Given the description of an element on the screen output the (x, y) to click on. 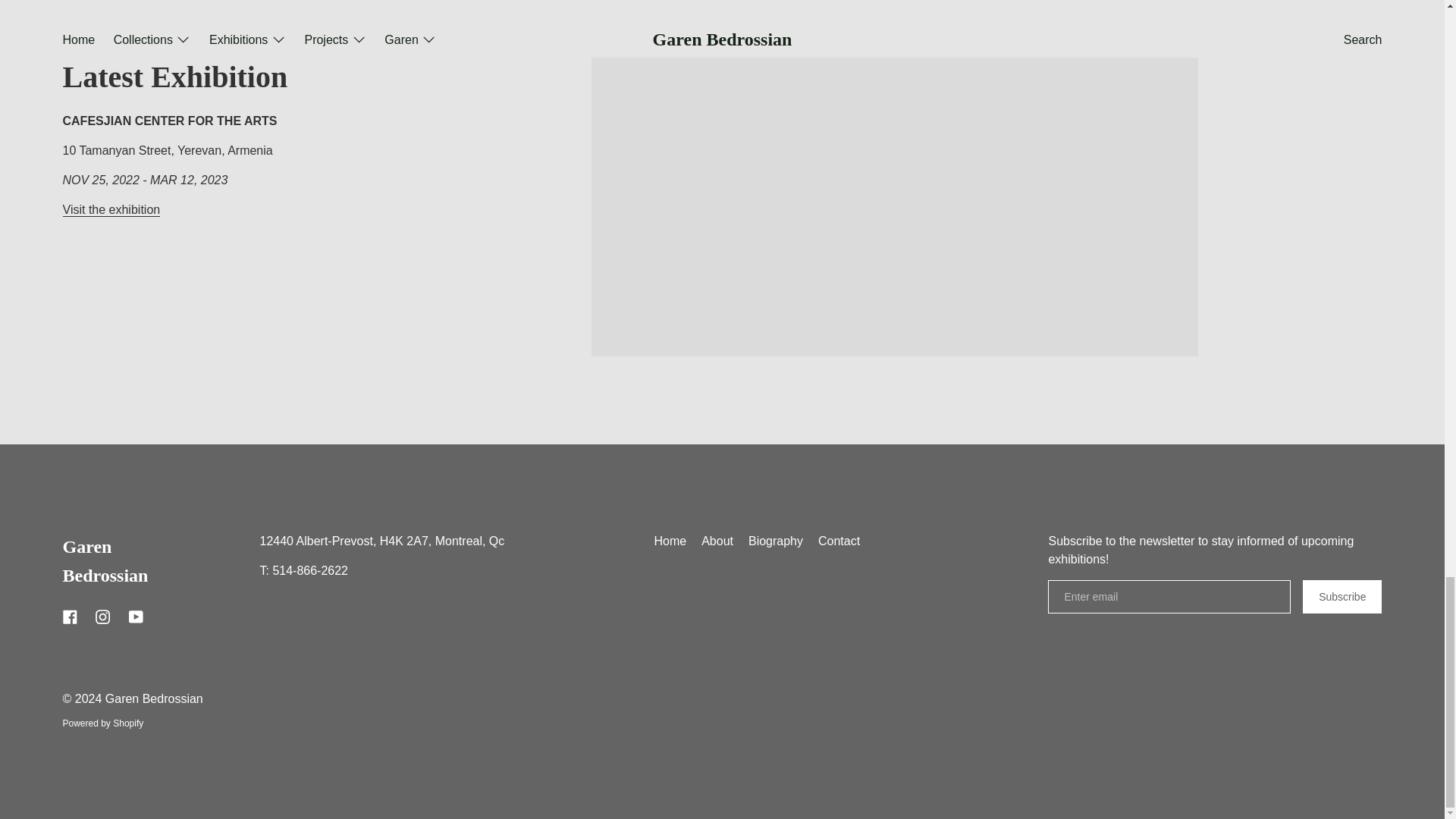
Garen Bedrossian on YouTube (135, 616)
Garen Bedrossian on Instagram (102, 616)
Garen Bedrossian on Facebook (69, 616)
Exhibition: Beginning, end, beginning (111, 210)
